Given the description of an element on the screen output the (x, y) to click on. 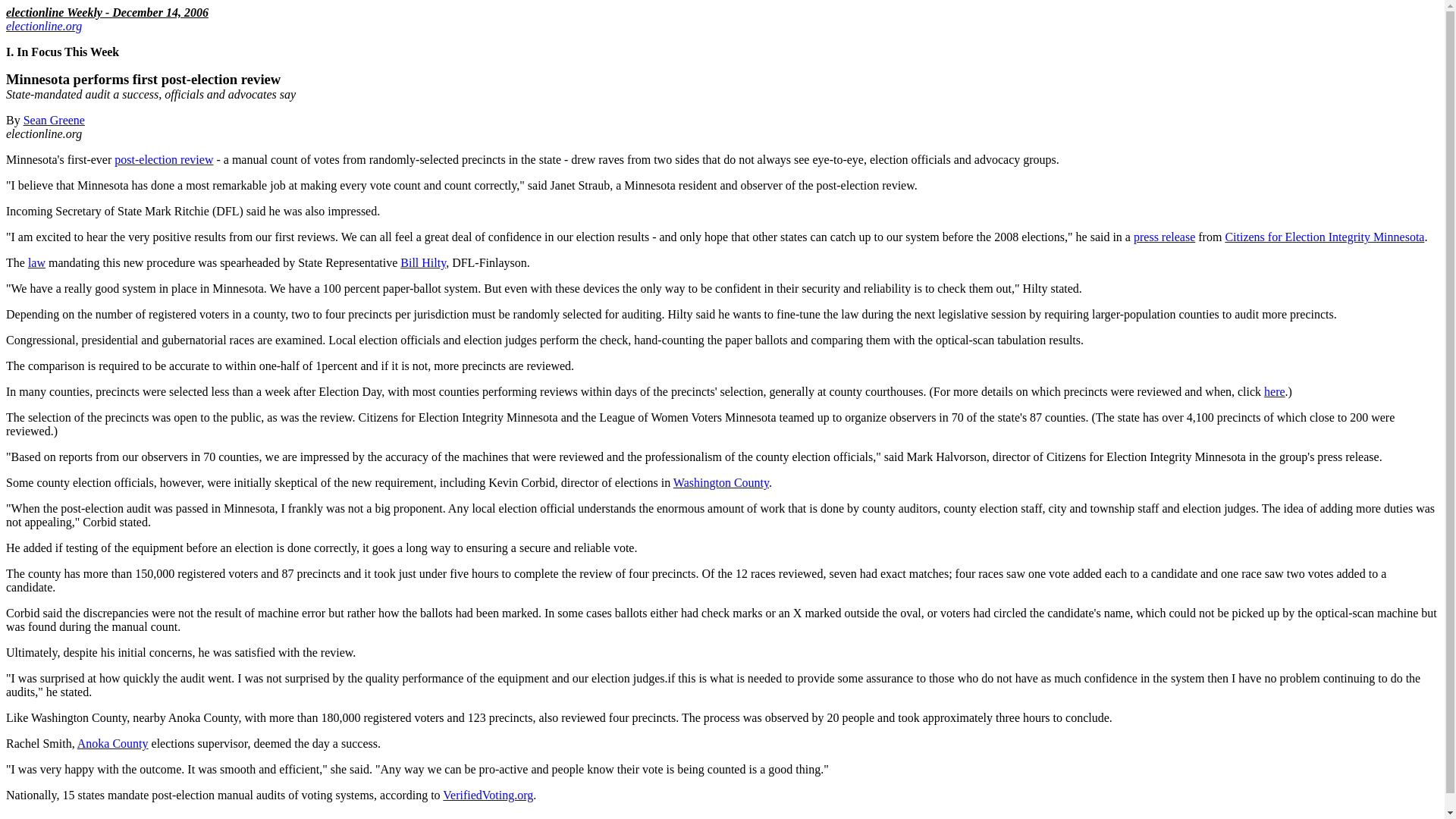
VerifiedVoting.org (487, 794)
law (36, 262)
Washington County (720, 481)
Sean Greene (53, 119)
Citizens for Election Integrity Minnesota (1323, 236)
Bill Hilty (422, 262)
press release (1164, 236)
post-election review (163, 159)
electionline.org (43, 25)
Anoka County (112, 743)
here (1274, 391)
